Given the description of an element on the screen output the (x, y) to click on. 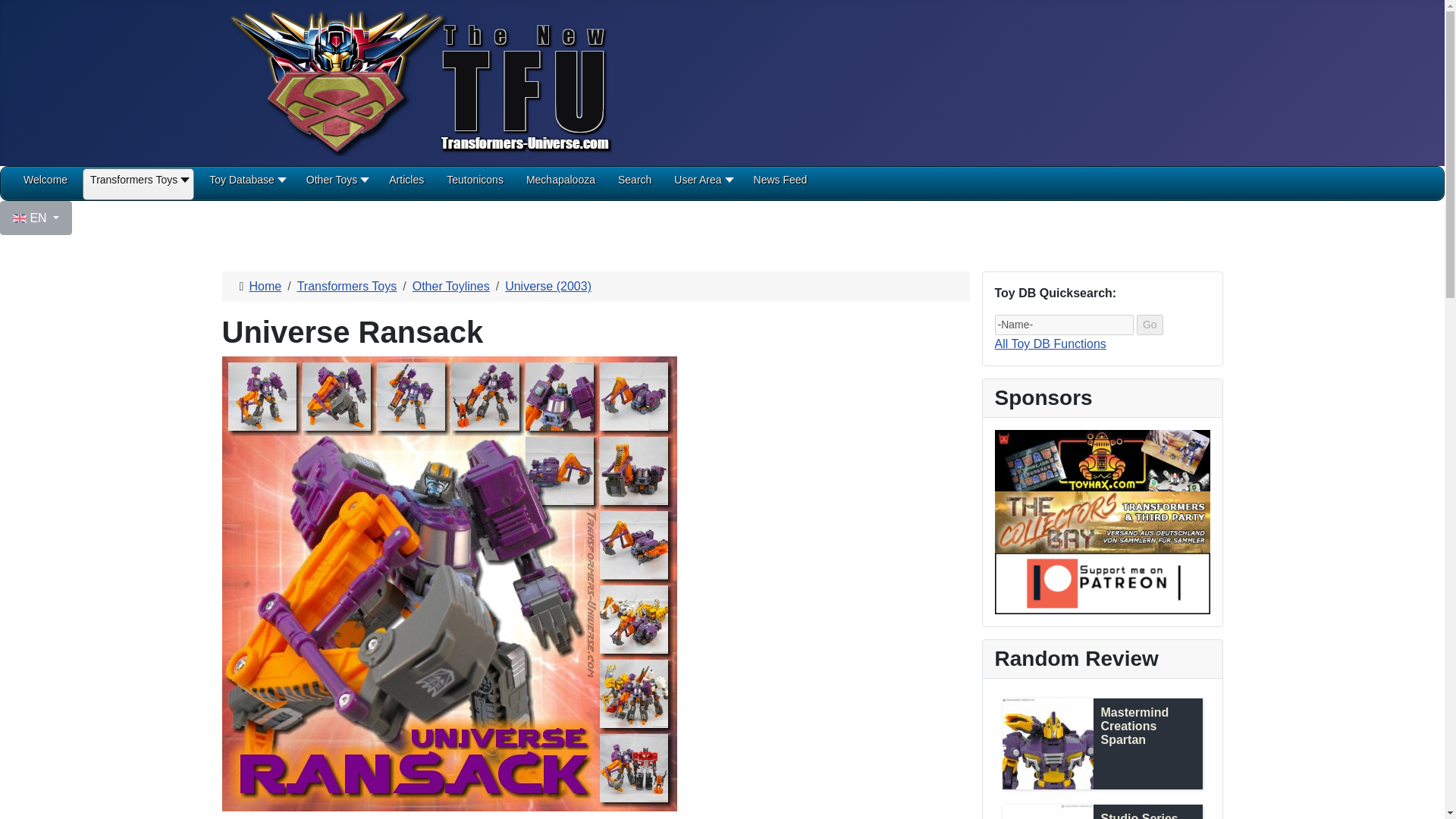
-Name- (1064, 324)
Transformers Toys (138, 184)
Welcome (44, 184)
Go (1150, 324)
